Given the description of an element on the screen output the (x, y) to click on. 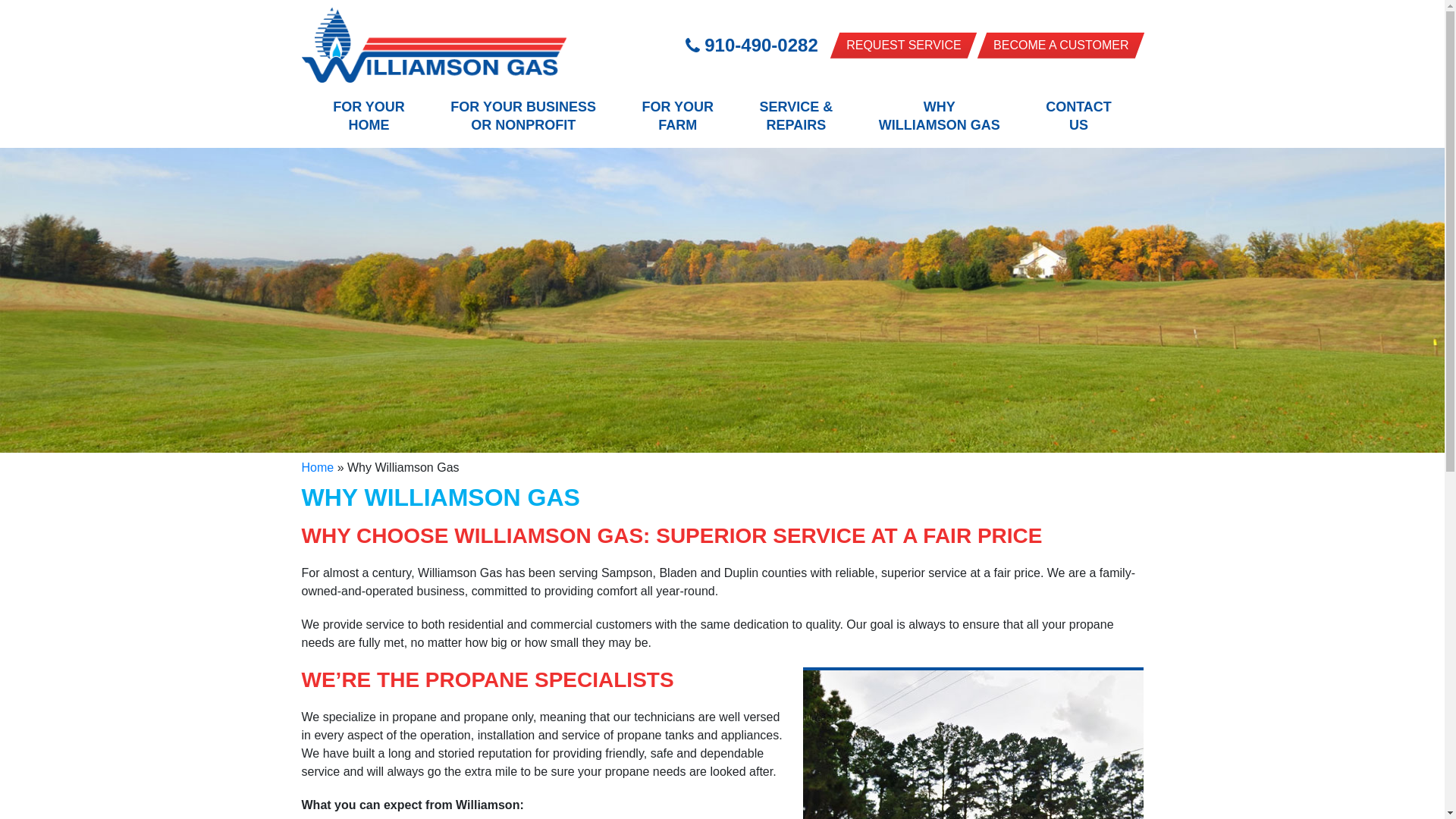
910-490-0282 (677, 115)
REQUEST SERVICE (751, 45)
Home (902, 45)
BECOME A CUSTOMER (939, 115)
